Given the description of an element on the screen output the (x, y) to click on. 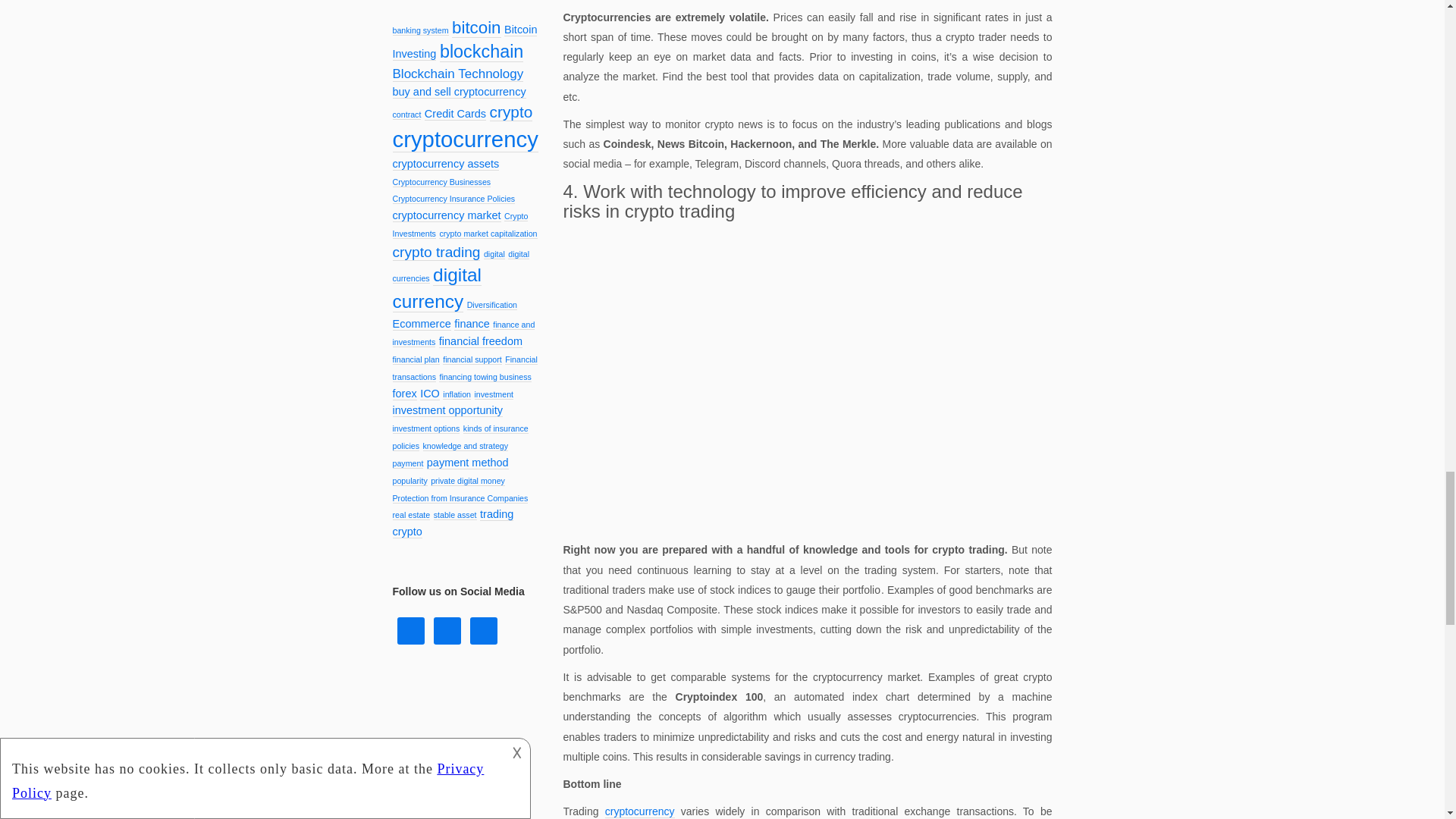
cryptocurrency (640, 811)
